Given the description of an element on the screen output the (x, y) to click on. 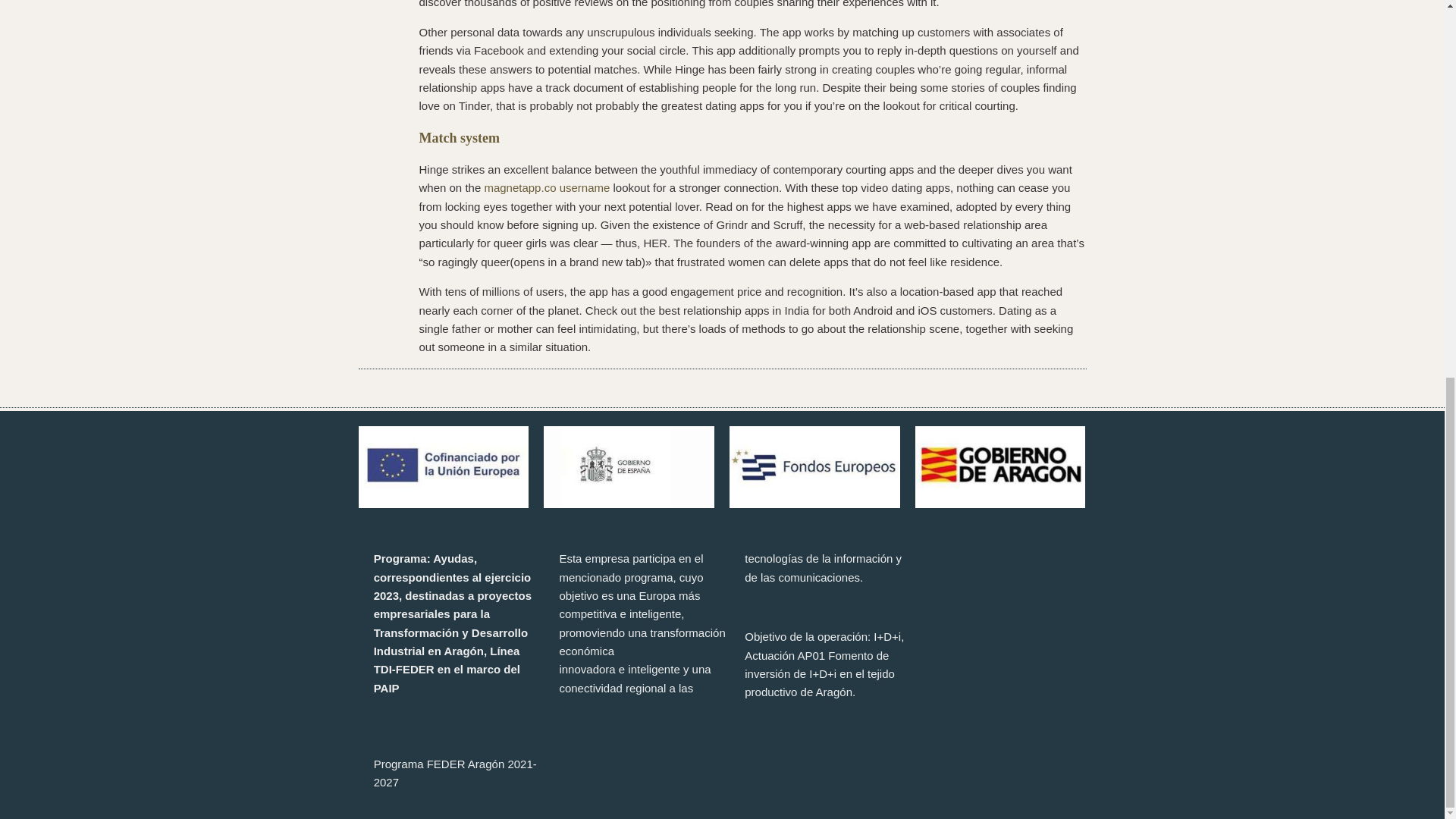
magnetapp.co username (546, 187)
